Given the description of an element on the screen output the (x, y) to click on. 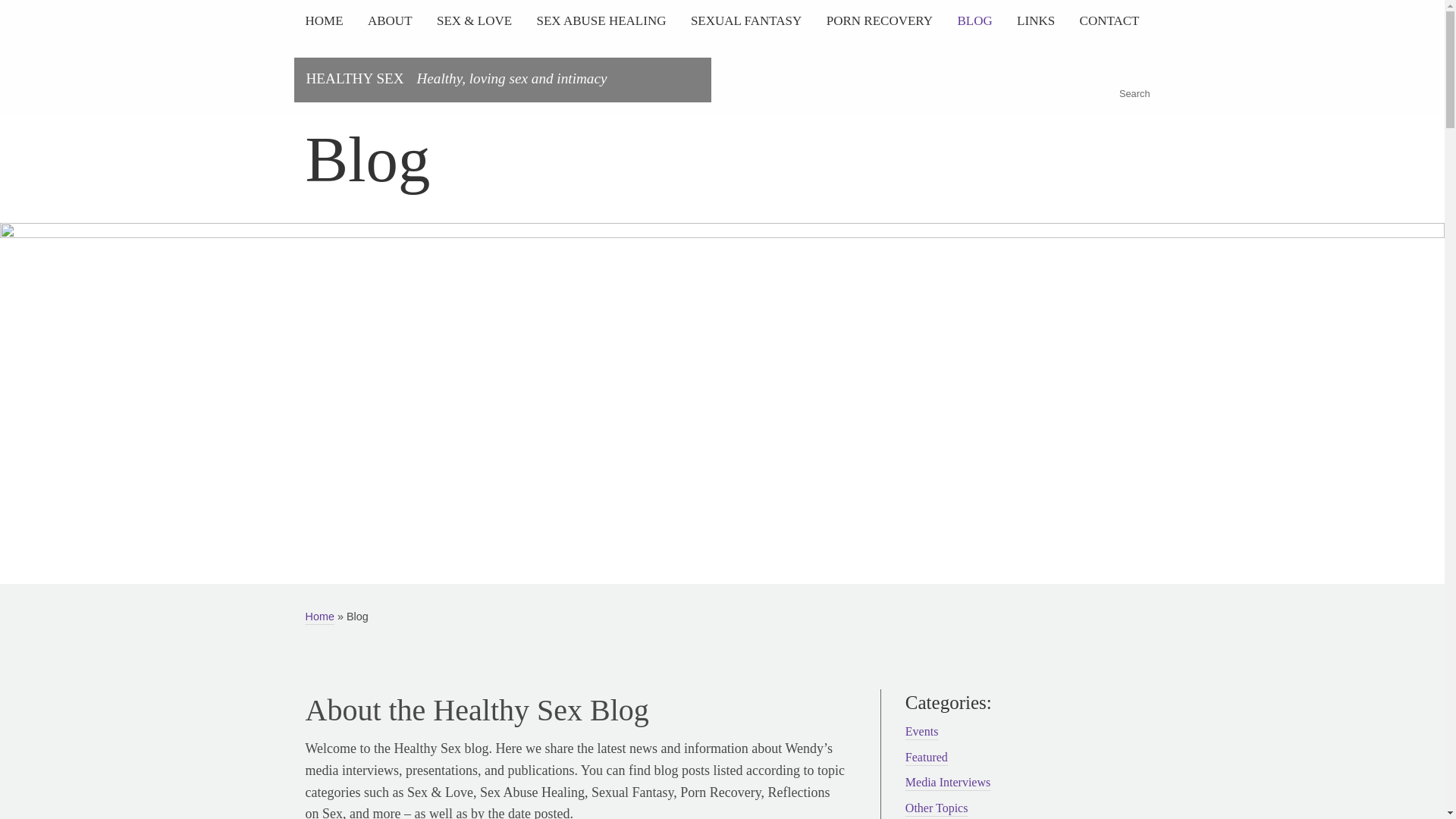
SEX ABUSE HEALING (601, 20)
ABOUT (390, 20)
SEXUAL FANTASY (745, 20)
LINKS (1035, 20)
HOME (329, 20)
Search (34, 15)
PORN RECOVERY (878, 20)
Home (318, 616)
Search for: (1132, 73)
BLOG (974, 20)
